Given the description of an element on the screen output the (x, y) to click on. 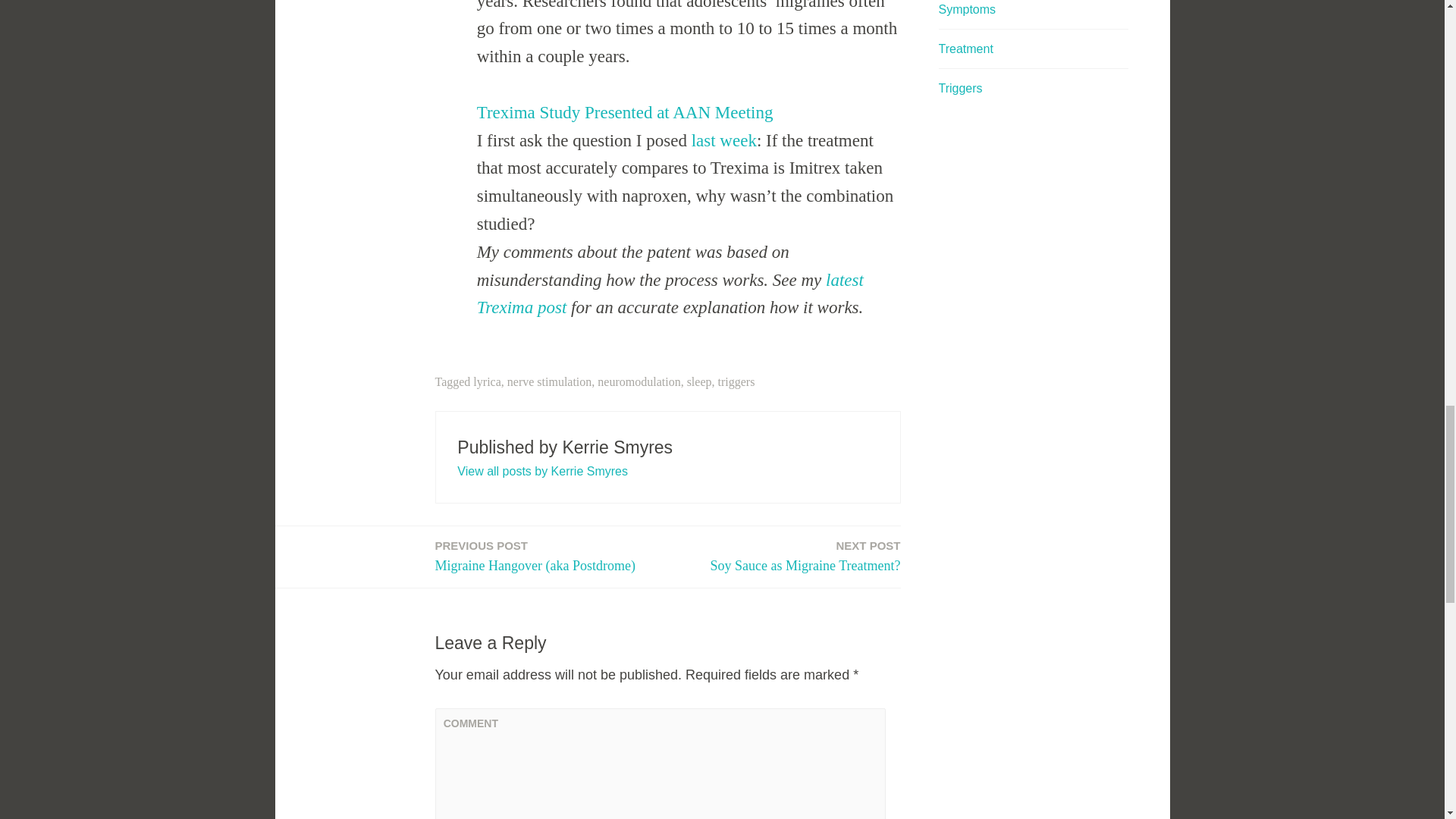
View all posts by Kerrie Smyres (542, 471)
triggers (735, 381)
latest Trexima post (670, 294)
nerve stimulation (549, 381)
lyrica (486, 381)
last week (724, 140)
neuromodulation (805, 557)
sleep (637, 381)
Trexima Study Presented at AAN Meeting (699, 381)
